Given the description of an element on the screen output the (x, y) to click on. 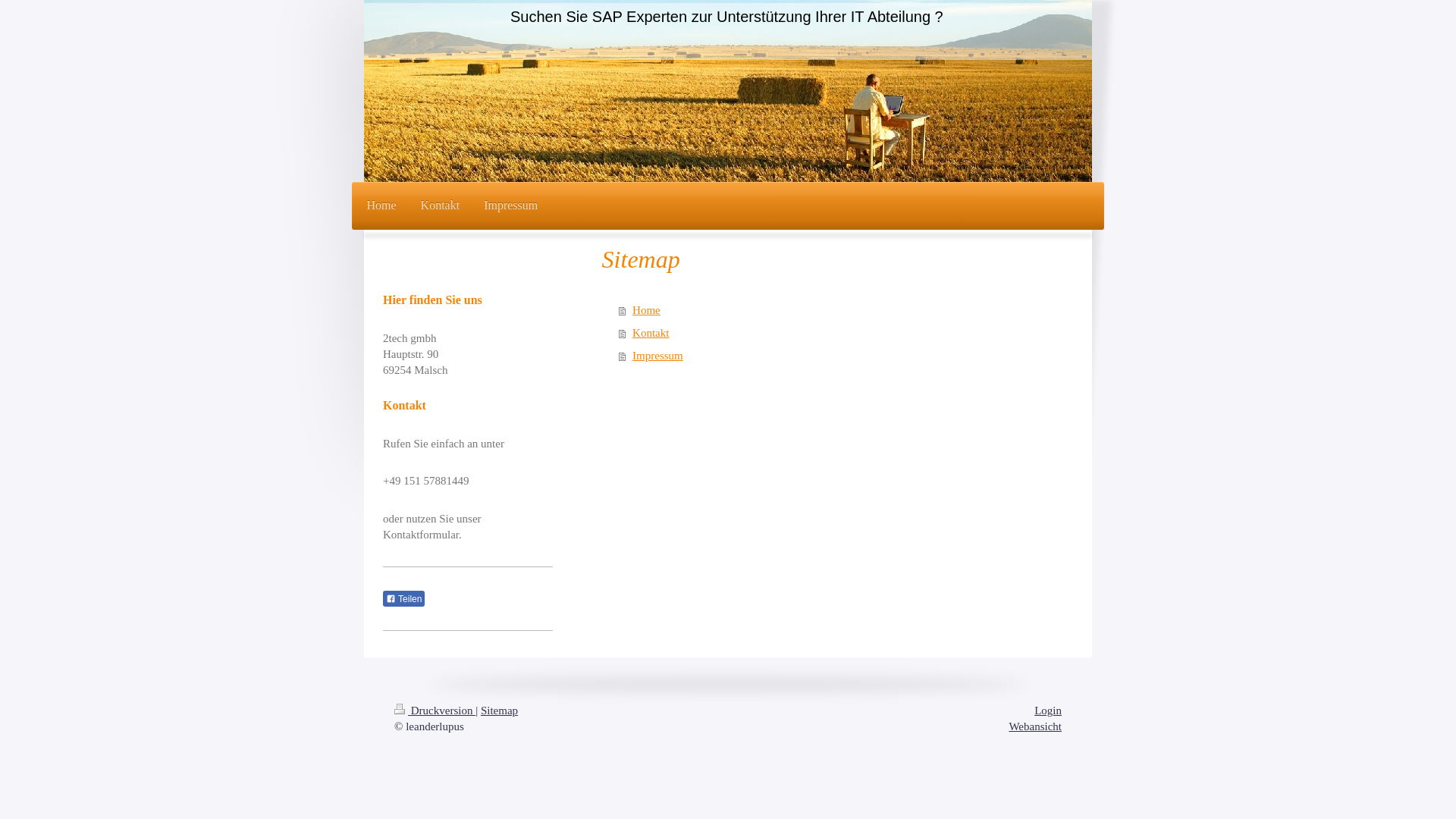
Druckversion Element type: text (434, 710)
Home Element type: text (817, 309)
Home Element type: text (381, 206)
Login Element type: text (1047, 710)
Kontakt Element type: text (440, 206)
Impressum Element type: text (817, 355)
Impressum Element type: text (510, 206)
Webansicht Element type: text (1034, 726)
Teilen Element type: text (403, 598)
Sitemap Element type: text (498, 710)
Kontakt Element type: text (817, 332)
